Given the description of an element on the screen output the (x, y) to click on. 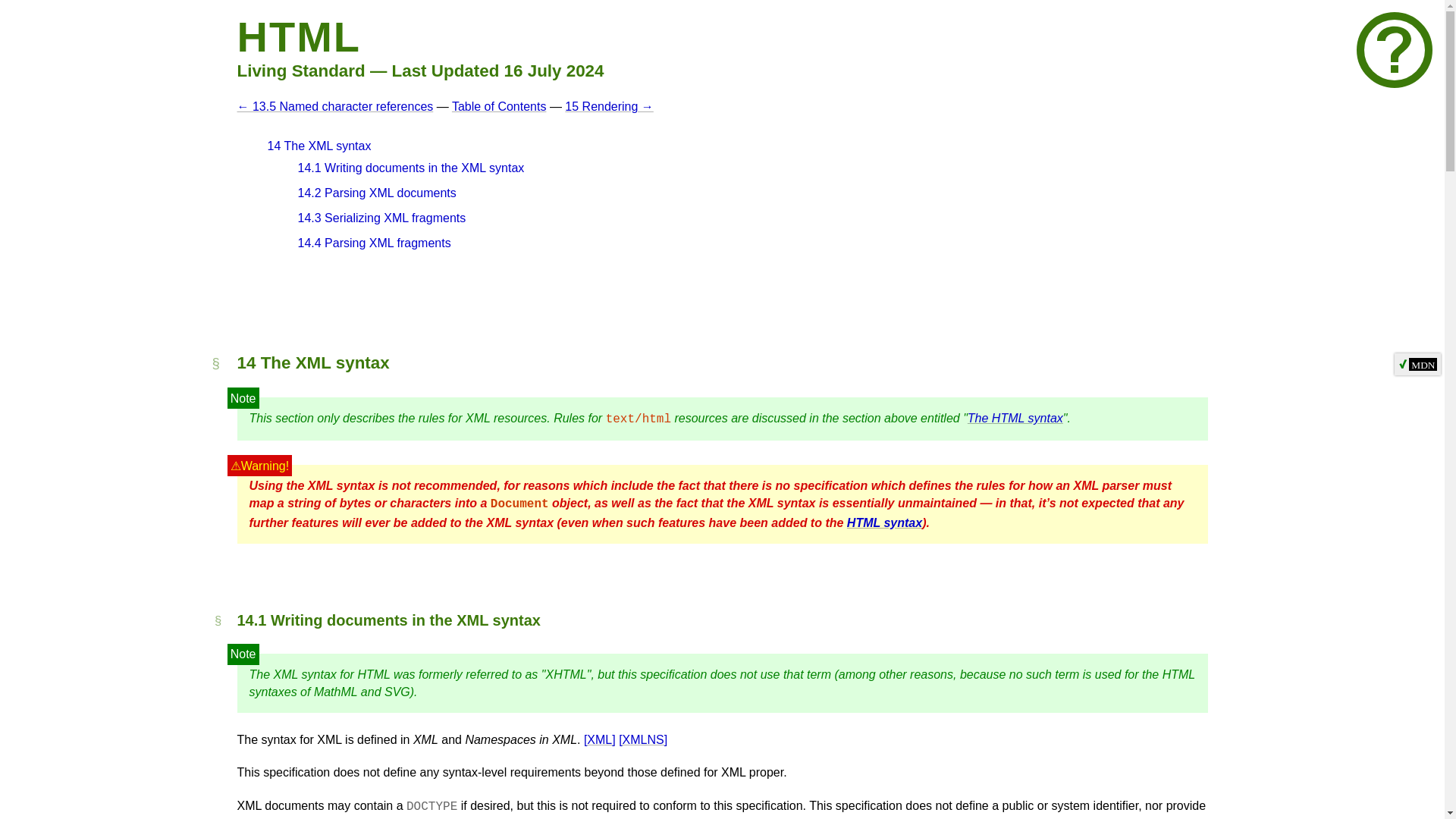
14.3 Serializing XML fragments (381, 217)
14 The XML syntax (318, 145)
14.1 Writing documents in the XML syntax (410, 167)
14.2 Parsing XML documents (376, 192)
Table of Contents (499, 106)
Document (519, 504)
14.4 Parsing XML fragments (373, 242)
HTML syntax (884, 522)
